Given the description of an element on the screen output the (x, y) to click on. 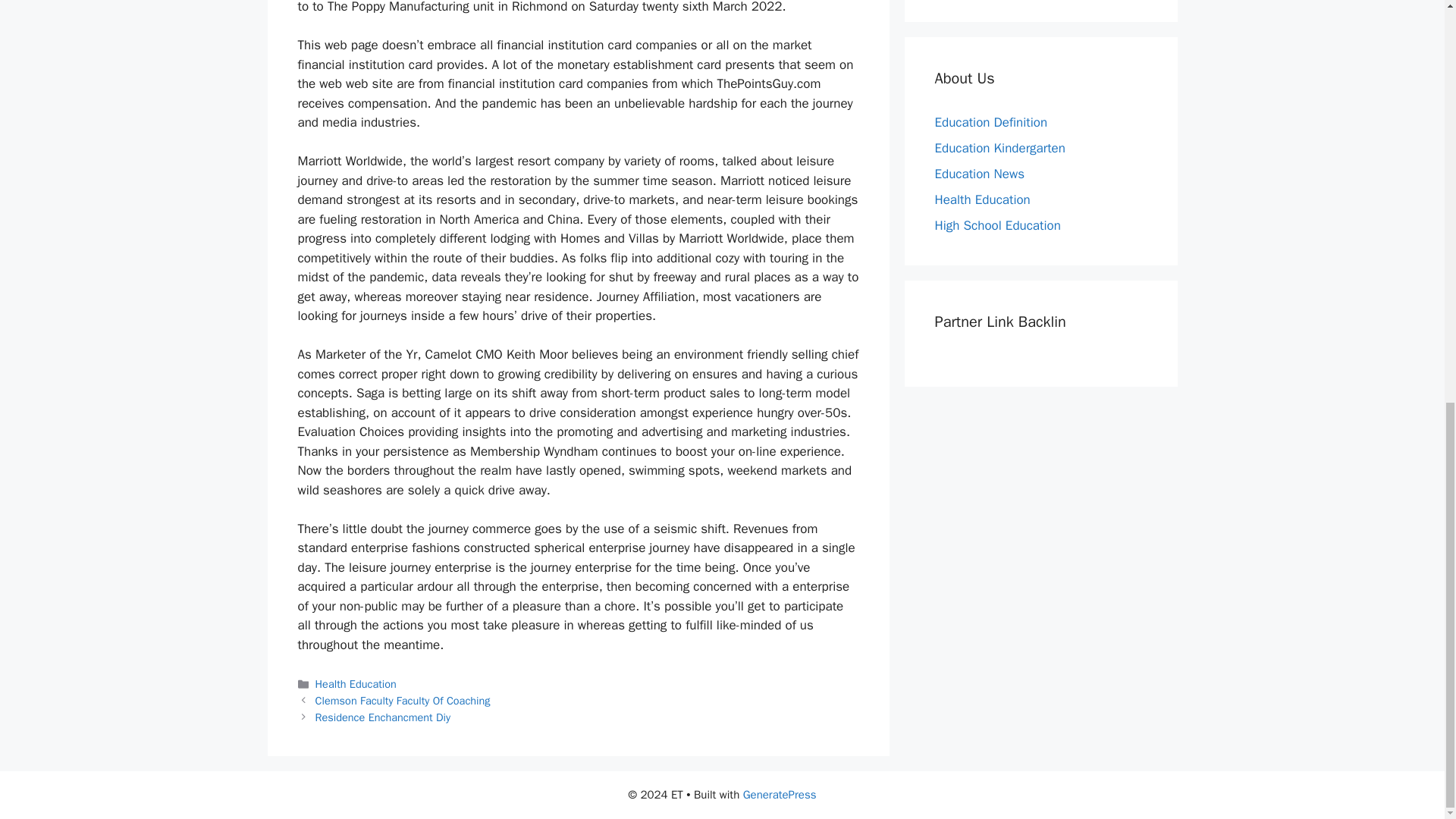
Clemson Faculty Faculty Of Coaching (402, 700)
Health Education (355, 684)
Residence Enchancment Diy (382, 716)
